Given the description of an element on the screen output the (x, y) to click on. 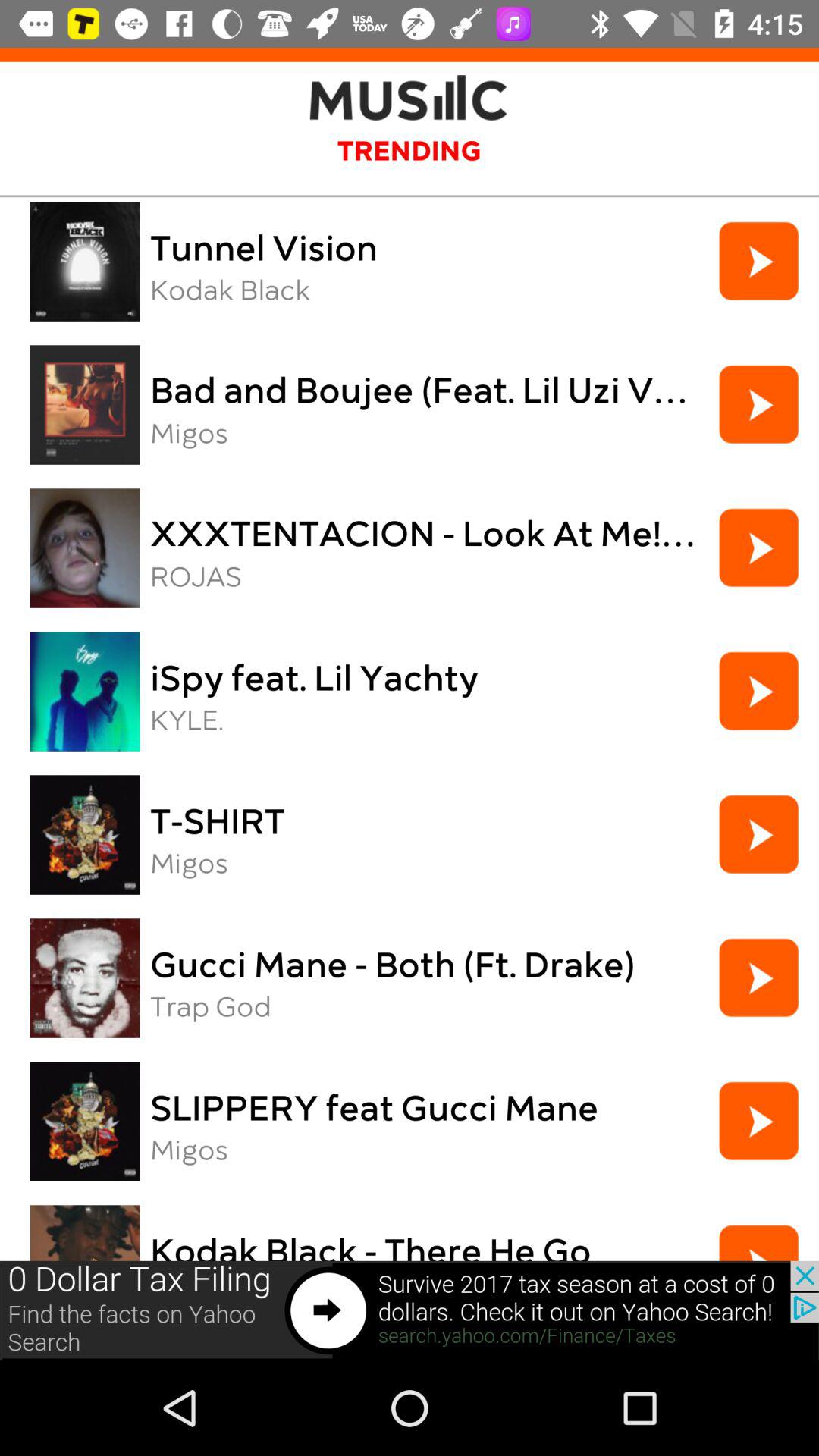
click to other link option (409, 1310)
